Given the description of an element on the screen output the (x, y) to click on. 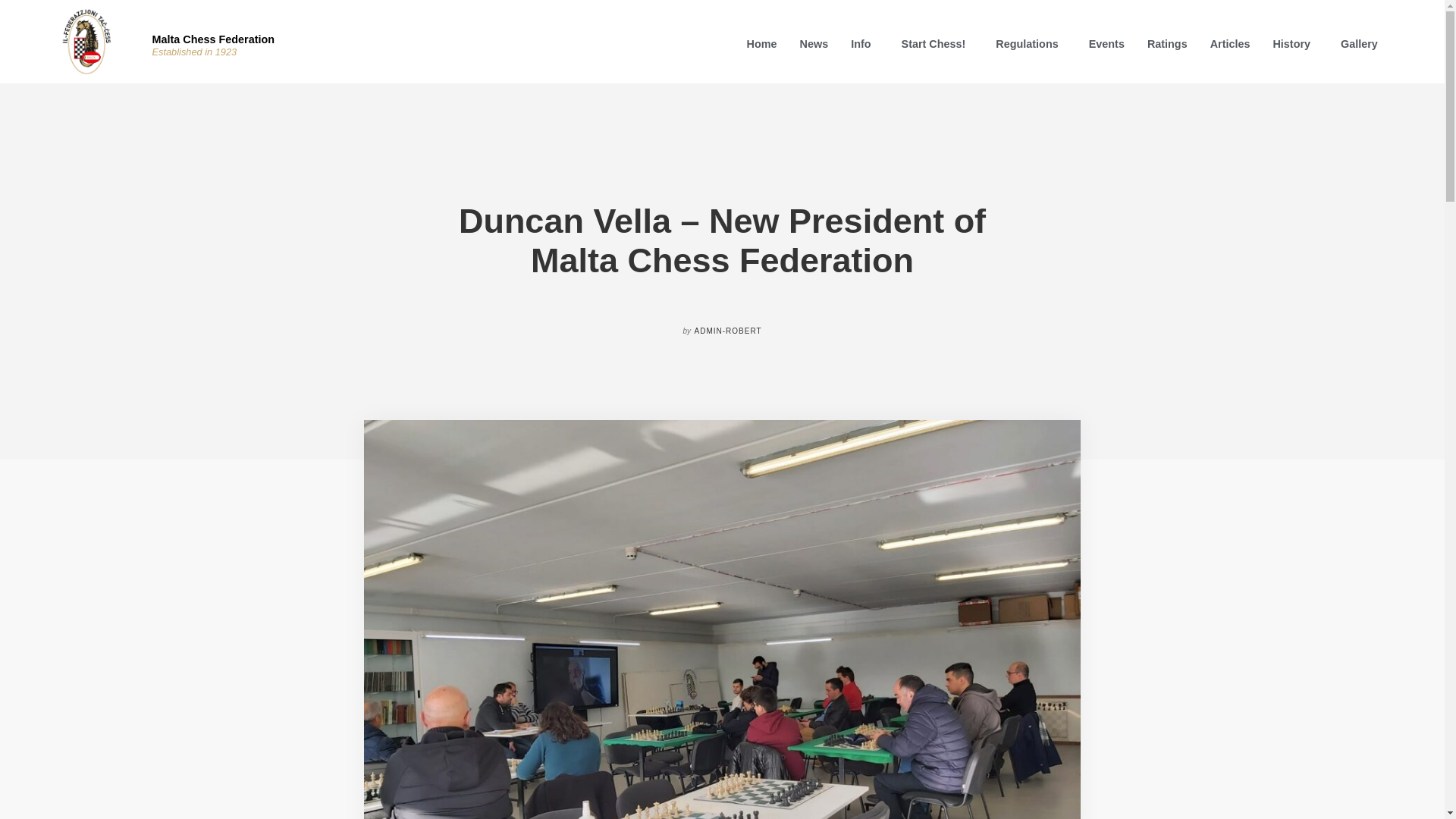
Start Chess! (937, 43)
Home (762, 43)
Articles (1230, 43)
History (1294, 43)
News (814, 43)
Regulations (1030, 43)
Ratings (1166, 43)
Gallery (1359, 43)
Info (864, 43)
Events (1106, 43)
